Given the description of an element on the screen output the (x, y) to click on. 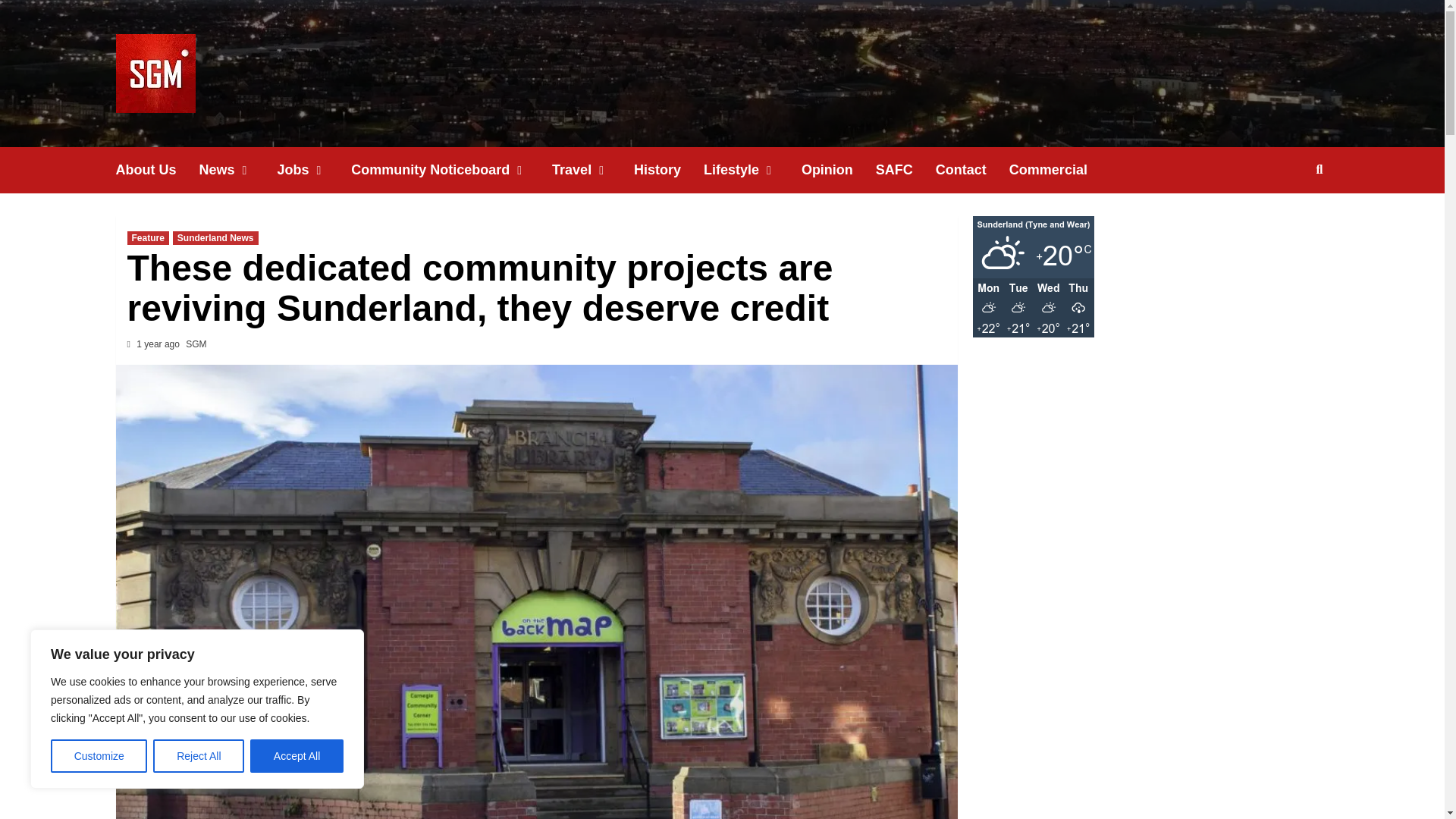
Search (1319, 169)
Accept All (296, 756)
News (237, 170)
Reject All (198, 756)
Customize (98, 756)
Advertisement (1149, 443)
About Us (156, 170)
